Given the description of an element on the screen output the (x, y) to click on. 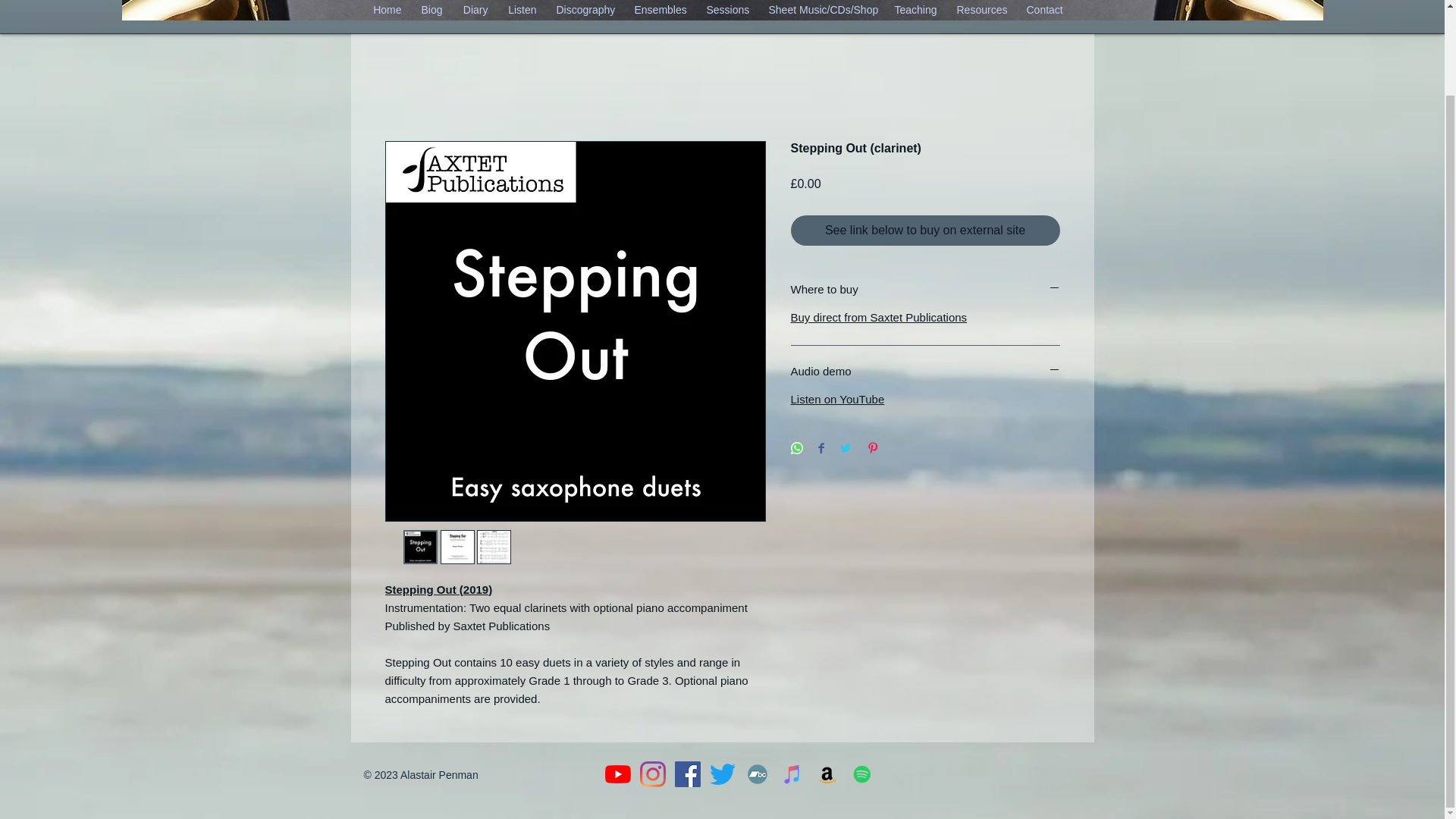
Sessions (726, 10)
Resources (981, 10)
Home (386, 10)
Contact (1043, 10)
Discography (585, 10)
Ensembles (660, 10)
Biog (430, 10)
Teaching (914, 10)
Diary (474, 10)
Listen (521, 10)
